Given the description of an element on the screen output the (x, y) to click on. 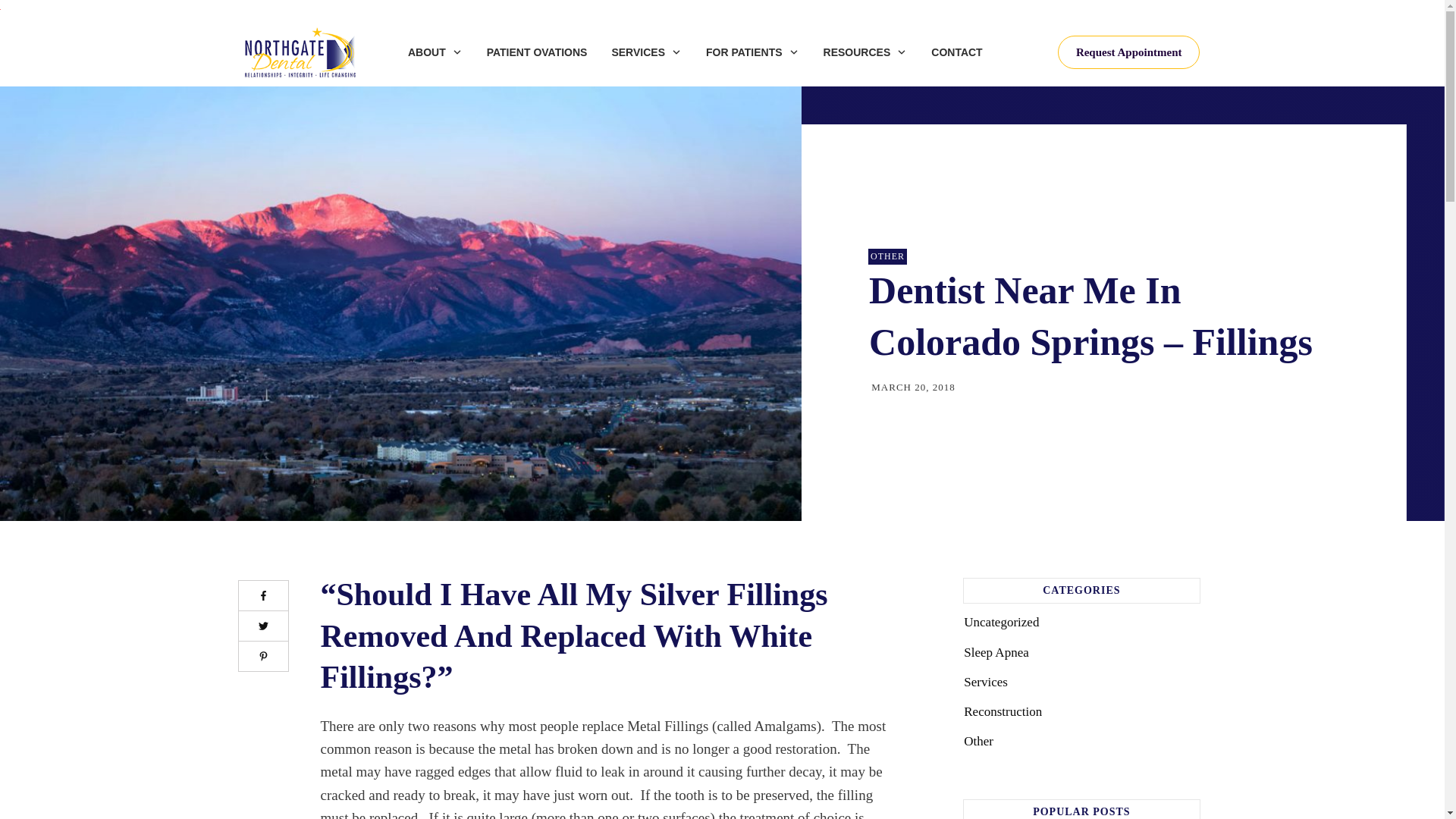
Patient Ovations (537, 52)
Request Appointment (1128, 52)
About (435, 52)
SERVICES (646, 52)
RESOURCES (865, 52)
FOR PATIENTS (752, 52)
Northgate Dental Care (299, 51)
OTHER (887, 255)
ABOUT (435, 52)
Services (646, 52)
CONTACT (956, 52)
PATIENT OVATIONS (537, 52)
